Given the description of an element on the screen output the (x, y) to click on. 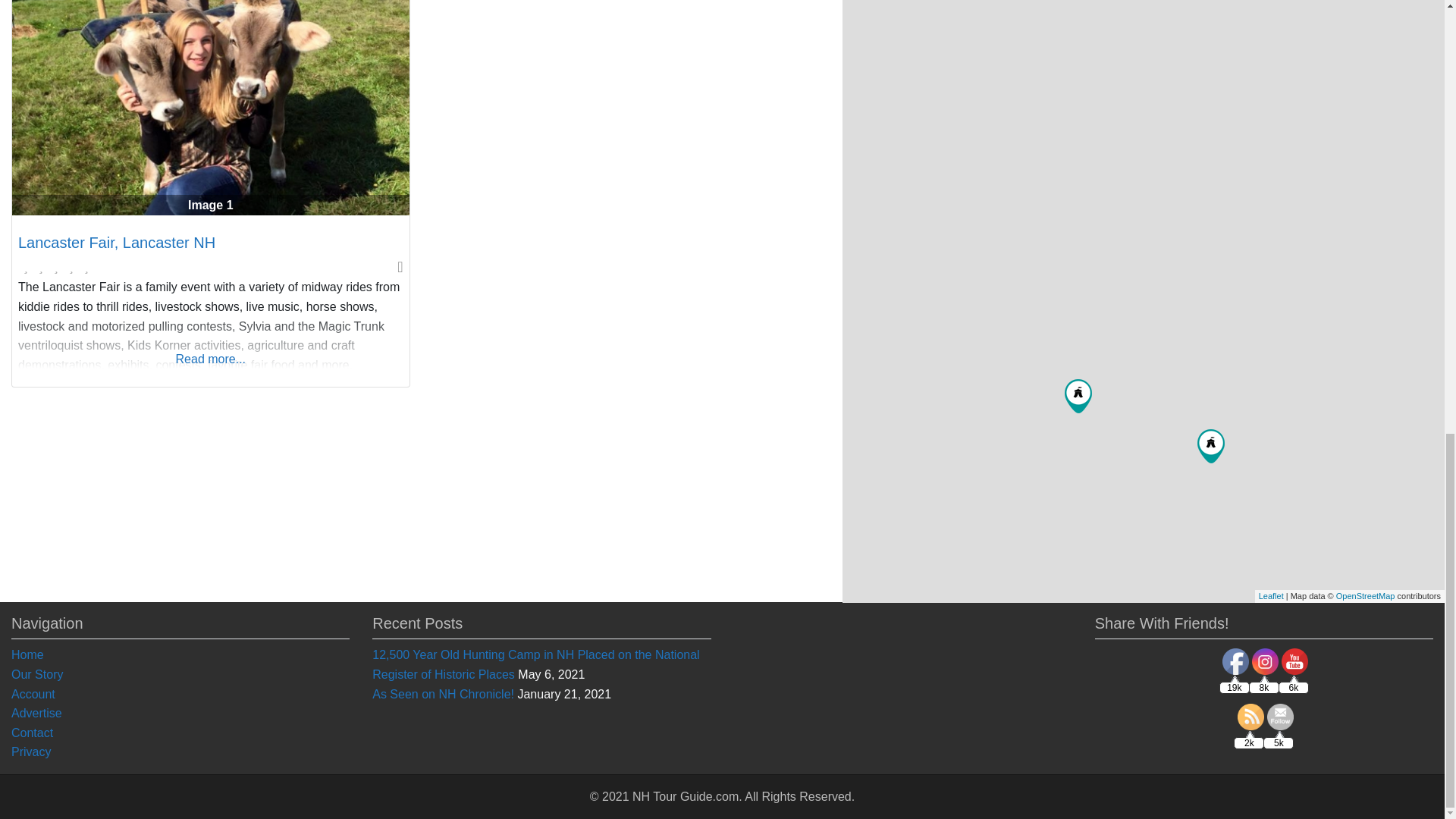
No rating yet! (55, 267)
Image 1 (210, 107)
View: Lancaster Fair, Lancaster NH (116, 242)
